Given the description of an element on the screen output the (x, y) to click on. 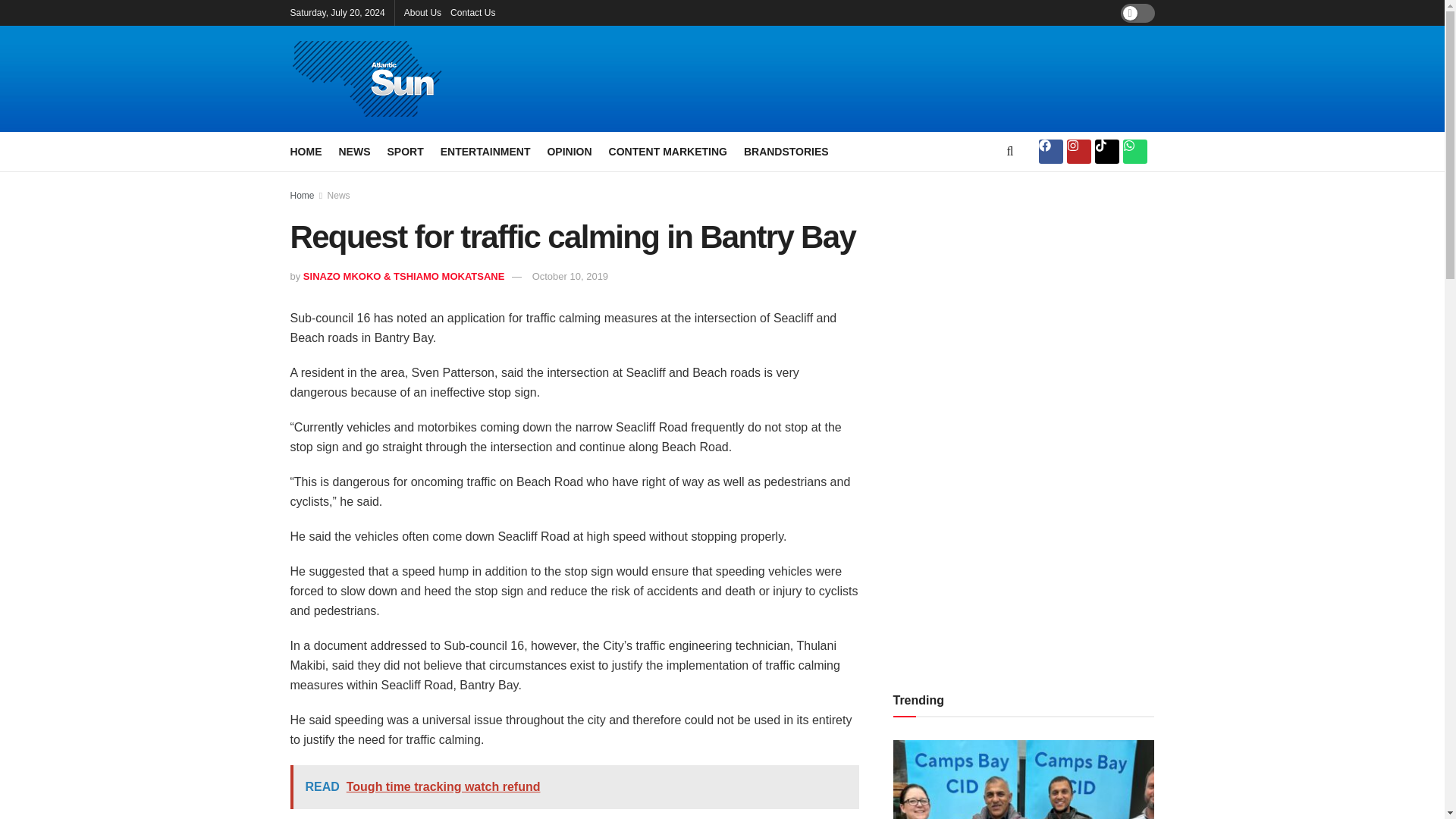
BRANDSTORIES (786, 151)
READ  Tough time tracking watch refund (574, 786)
October 10, 2019 (570, 276)
3rd party ad content (888, 79)
Home (301, 195)
CONTENT MARKETING (667, 151)
HOME (305, 151)
ENTERTAINMENT (486, 151)
Contact Us (472, 12)
NEWS (353, 151)
OPINION (569, 151)
News (338, 195)
About Us (422, 12)
SPORT (405, 151)
